Given the description of an element on the screen output the (x, y) to click on. 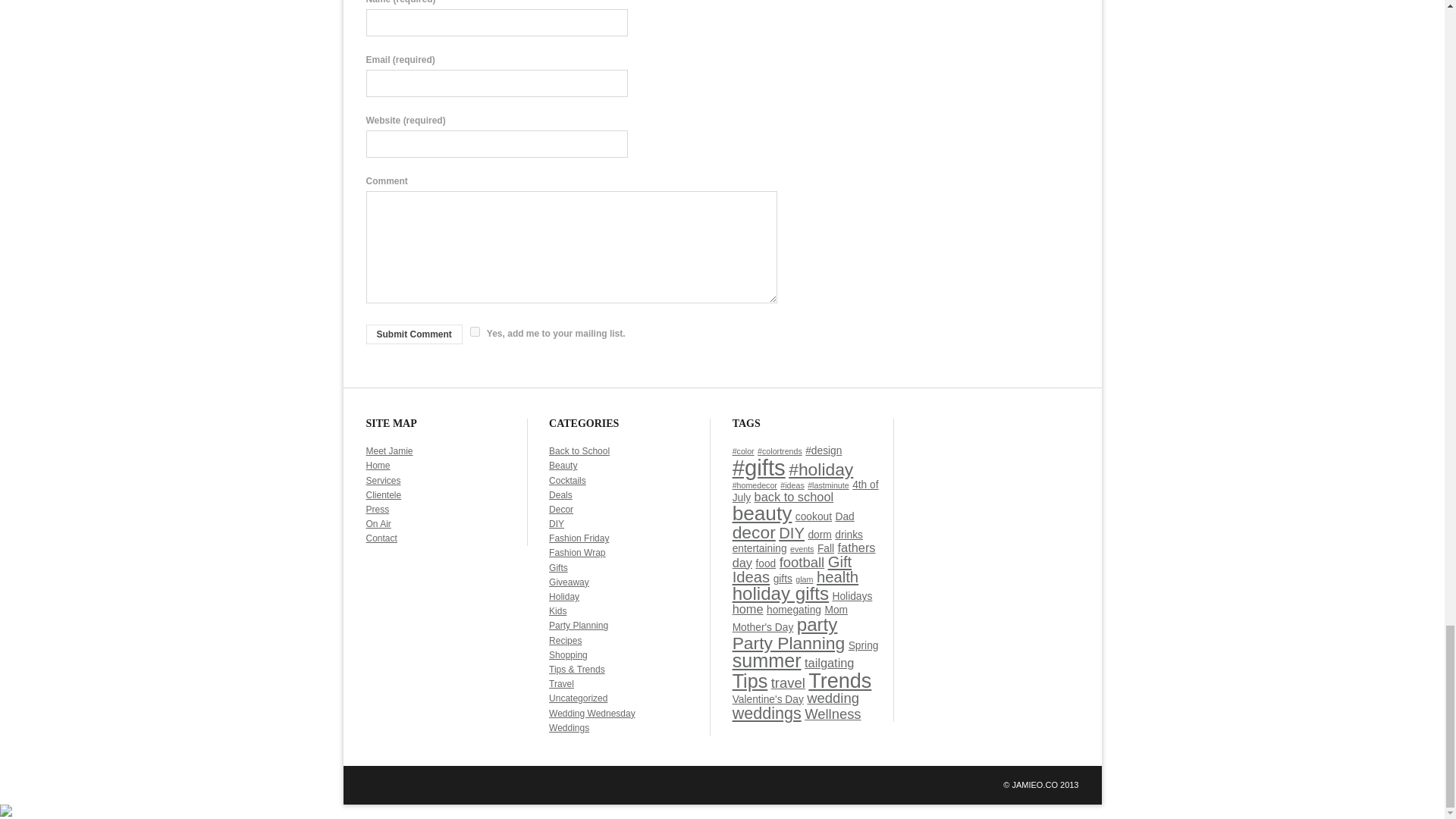
1 (474, 331)
Submit Comment (413, 333)
Meet Jamie (388, 450)
Submit Comment (413, 333)
